Given the description of an element on the screen output the (x, y) to click on. 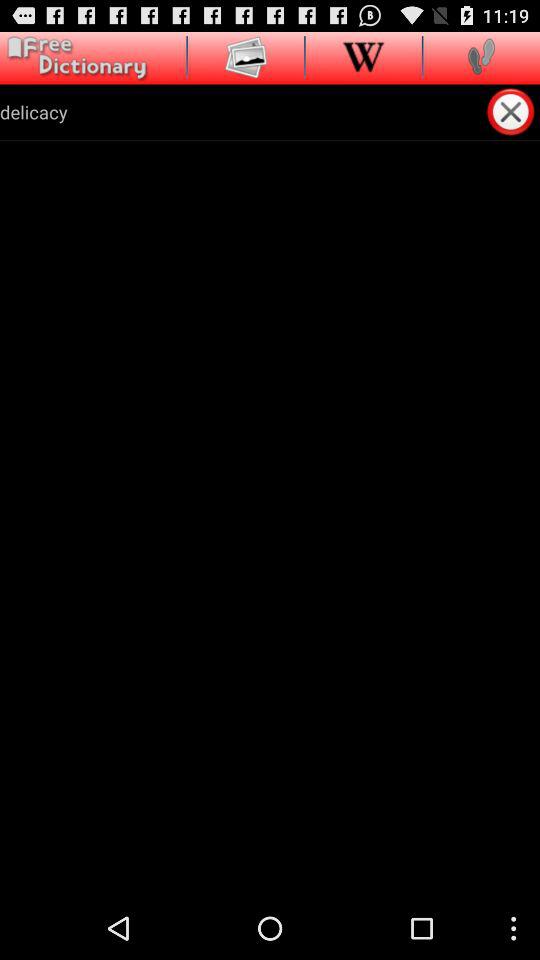
flip to delicacy app (242, 111)
